Given the description of an element on the screen output the (x, y) to click on. 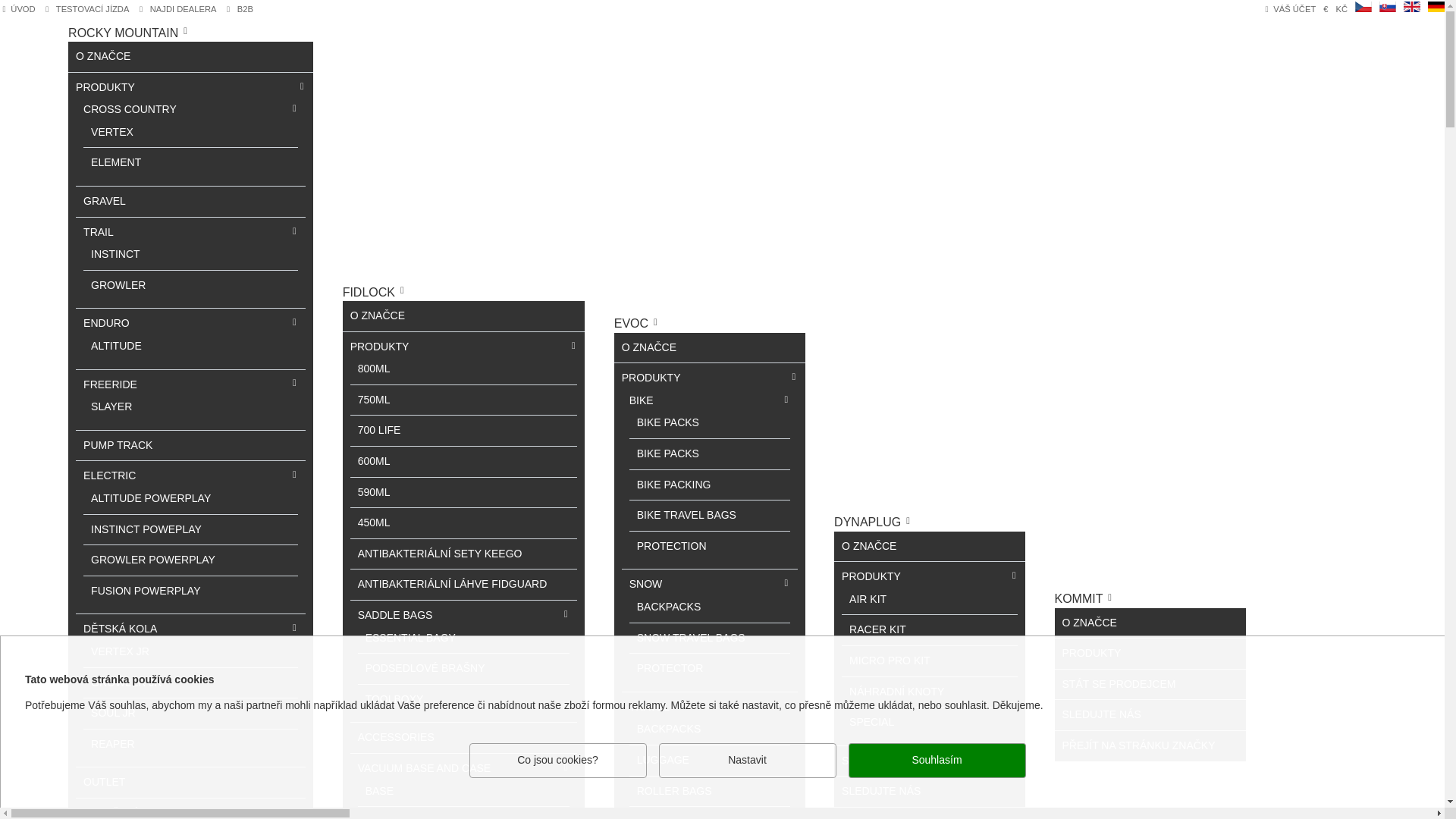
SLAYER (122, 406)
PUMP TRACK (128, 445)
ALTITUDE (127, 346)
ENDURO (117, 323)
ROCKY MOUNTAIN (125, 32)
FUSION POWERPLAY (156, 590)
FREERIDE (121, 385)
INSTINCT POWEPLAY (157, 529)
VERTEX (122, 132)
TRAIL (109, 232)
PRODUKTY (116, 87)
GROWLER (129, 285)
ELEMENT (126, 162)
INSTINCT (126, 254)
GROWLER POWERPLAY (164, 560)
